Given the description of an element on the screen output the (x, y) to click on. 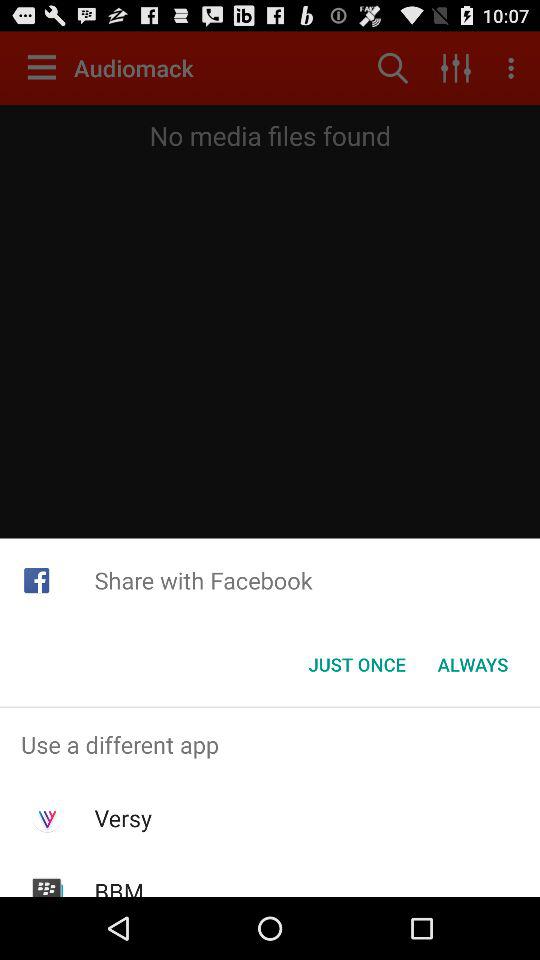
press the bbm item (119, 885)
